Given the description of an element on the screen output the (x, y) to click on. 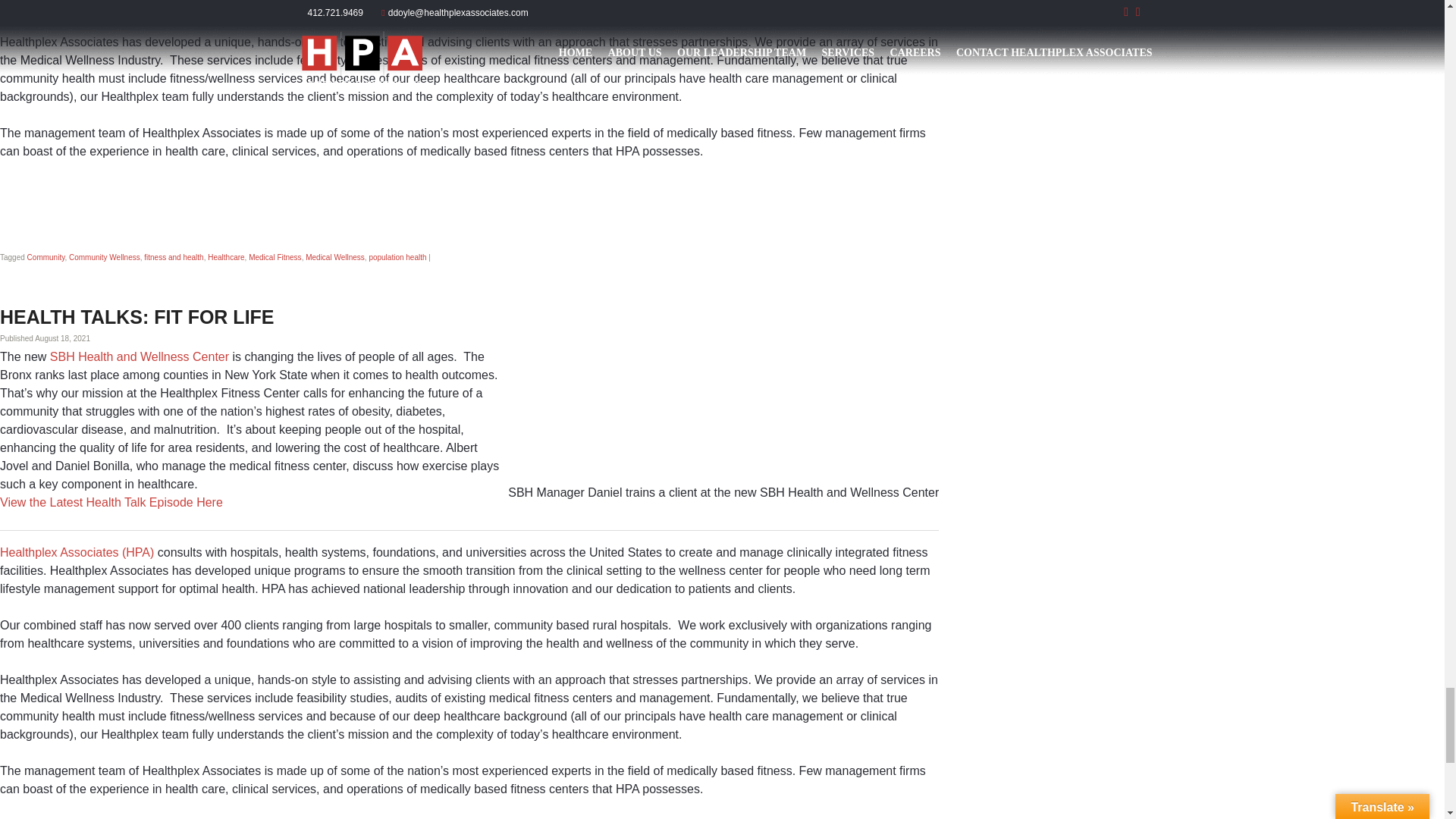
Permalink to Health Talks: Fit for Life (137, 316)
